Given the description of an element on the screen output the (x, y) to click on. 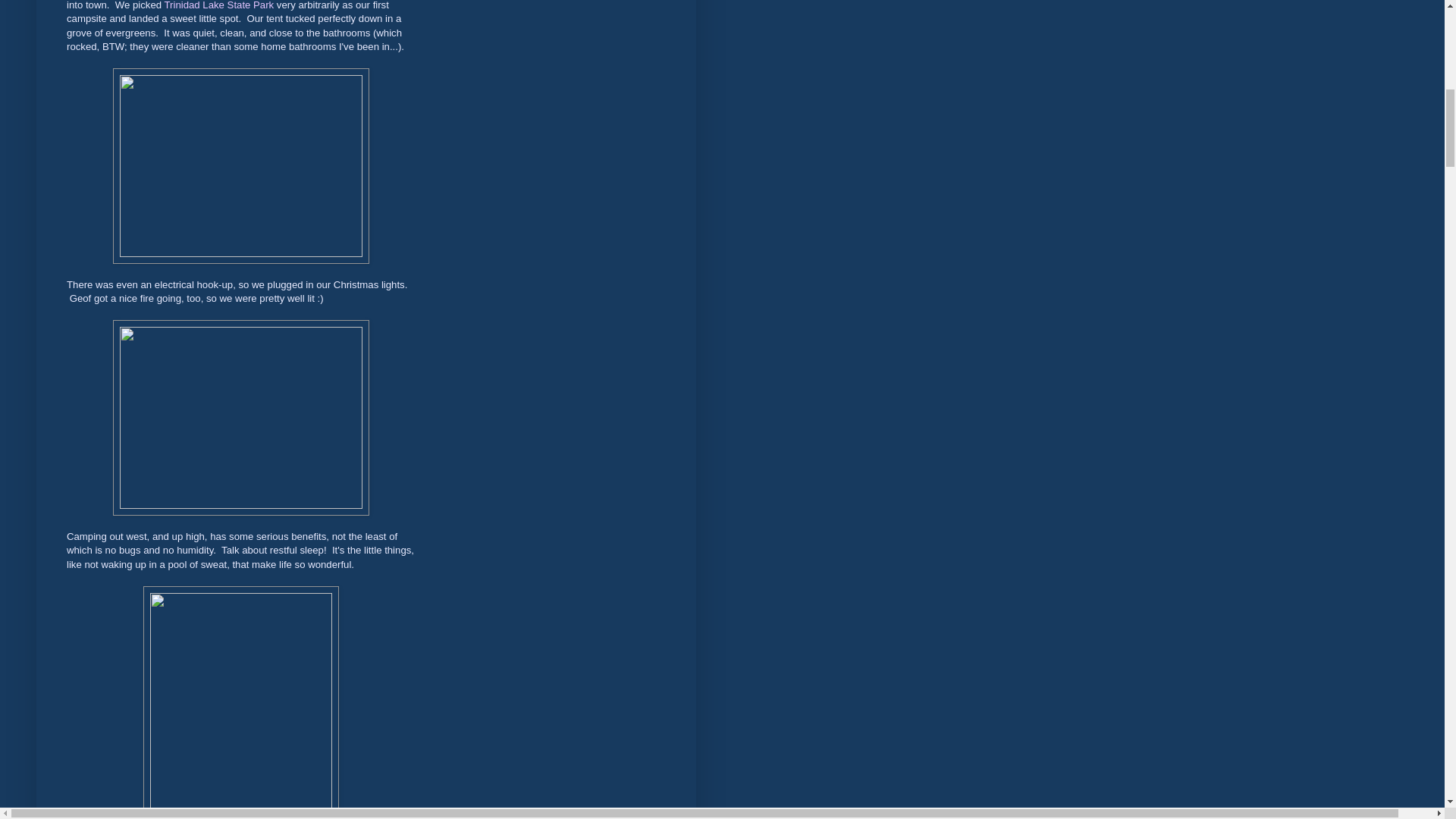
Trinidad Lake State Park (219, 5)
